Given the description of an element on the screen output the (x, y) to click on. 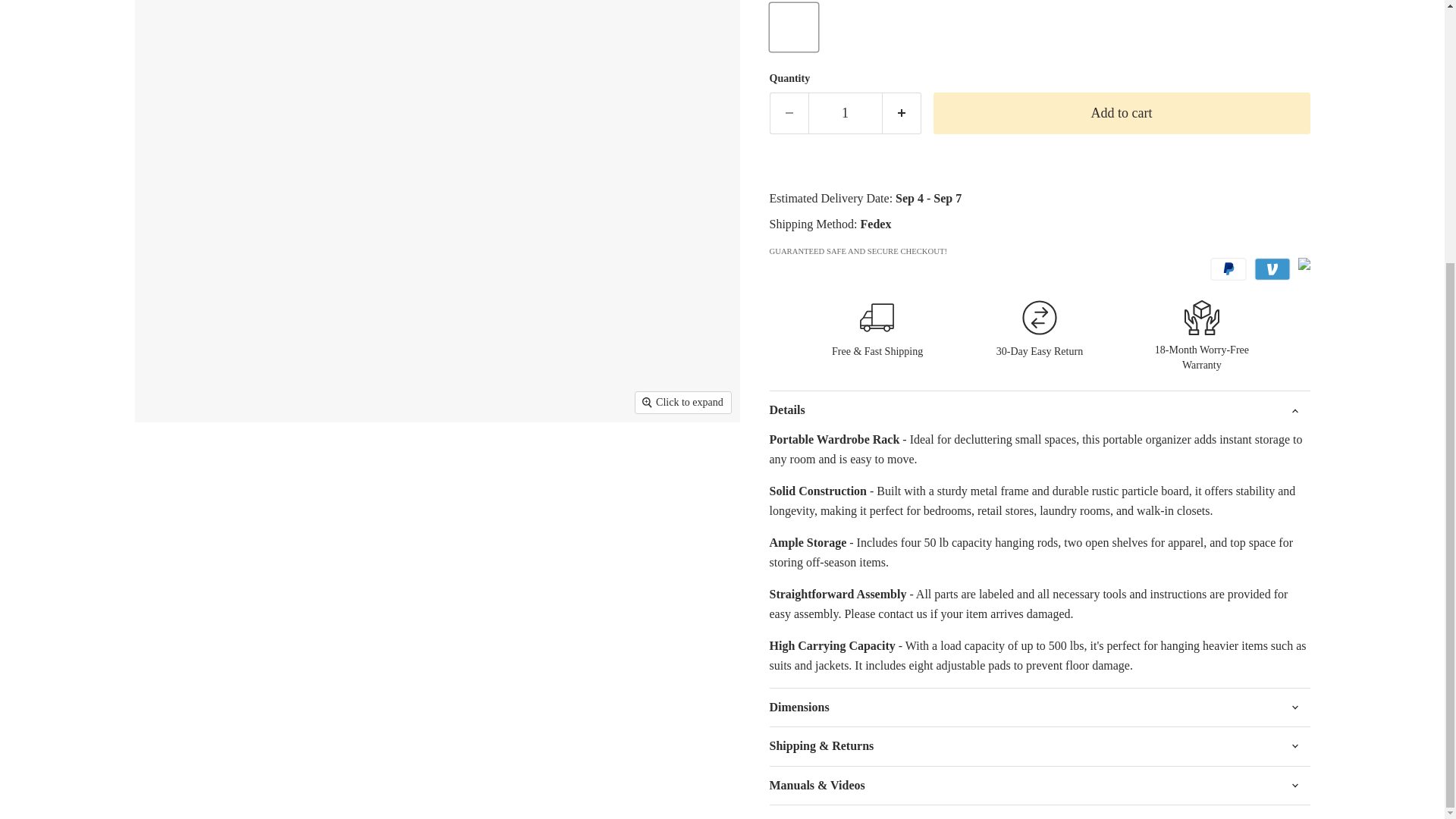
PayPal (1227, 268)
Venmo (1271, 268)
1 (845, 113)
